Given the description of an element on the screen output the (x, y) to click on. 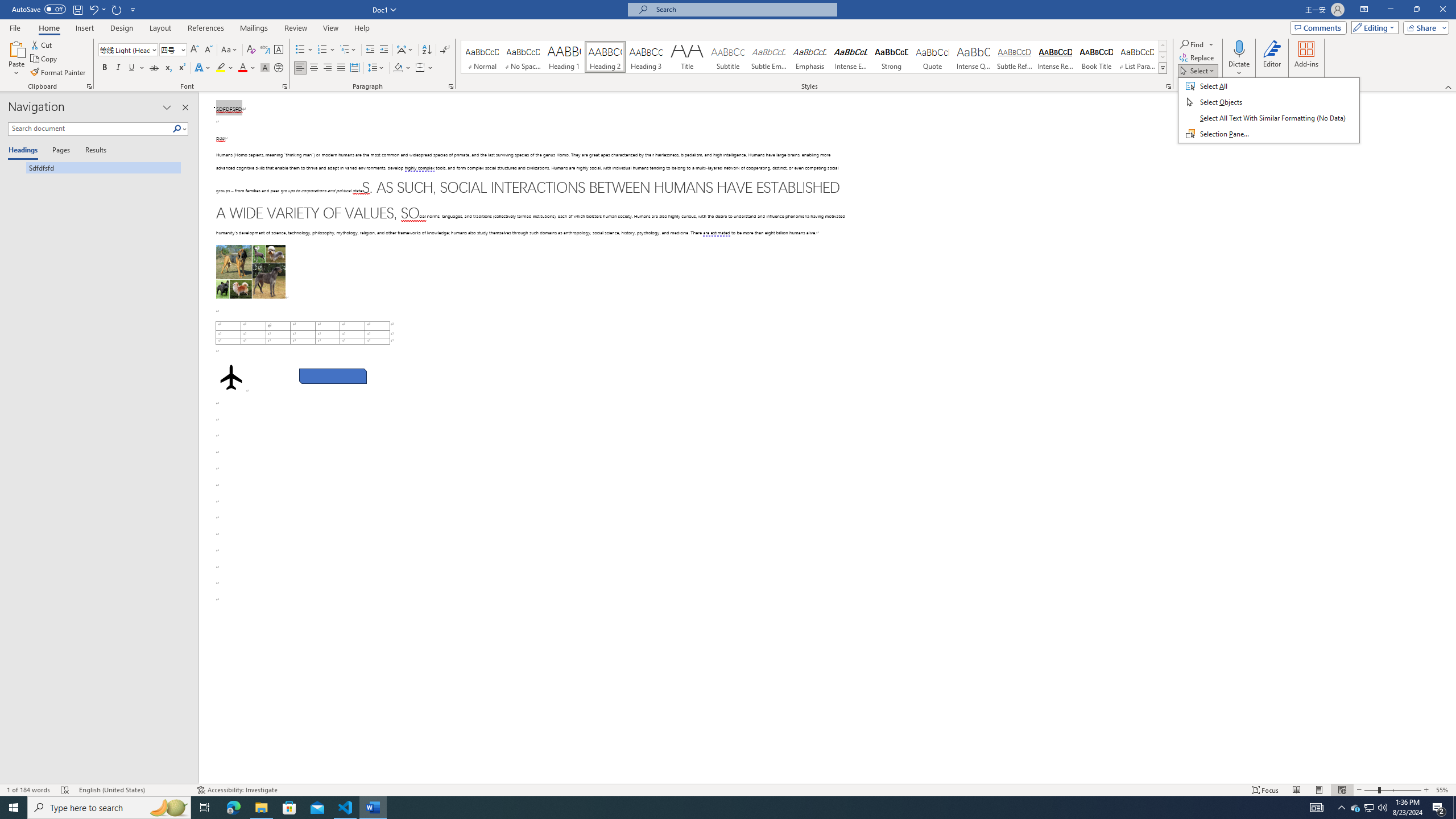
Sdfdfsfd (94, 167)
Book Title (1095, 56)
